Given the description of an element on the screen output the (x, y) to click on. 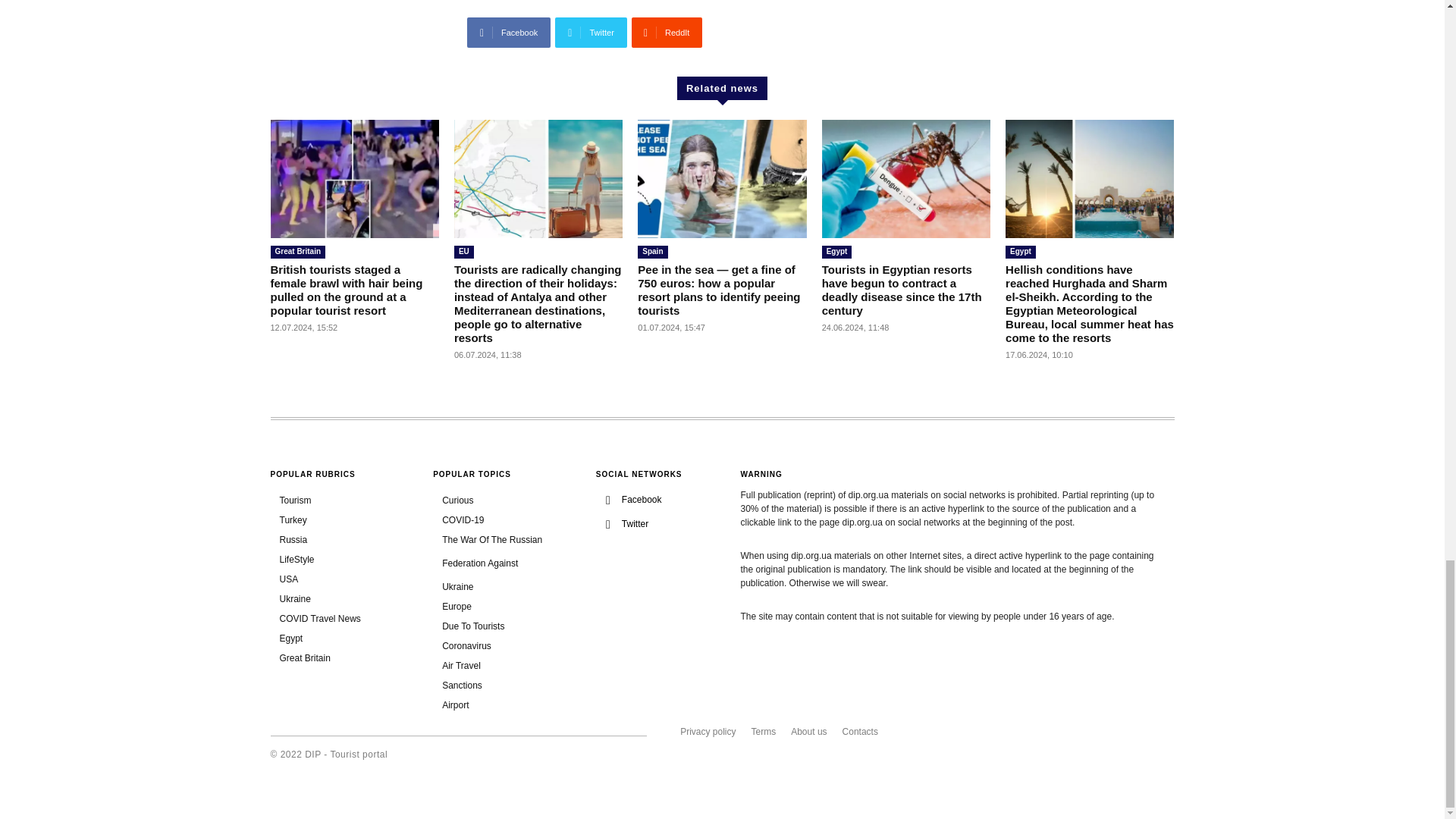
Twitter (590, 32)
Facebook (508, 32)
